Given the description of an element on the screen output the (x, y) to click on. 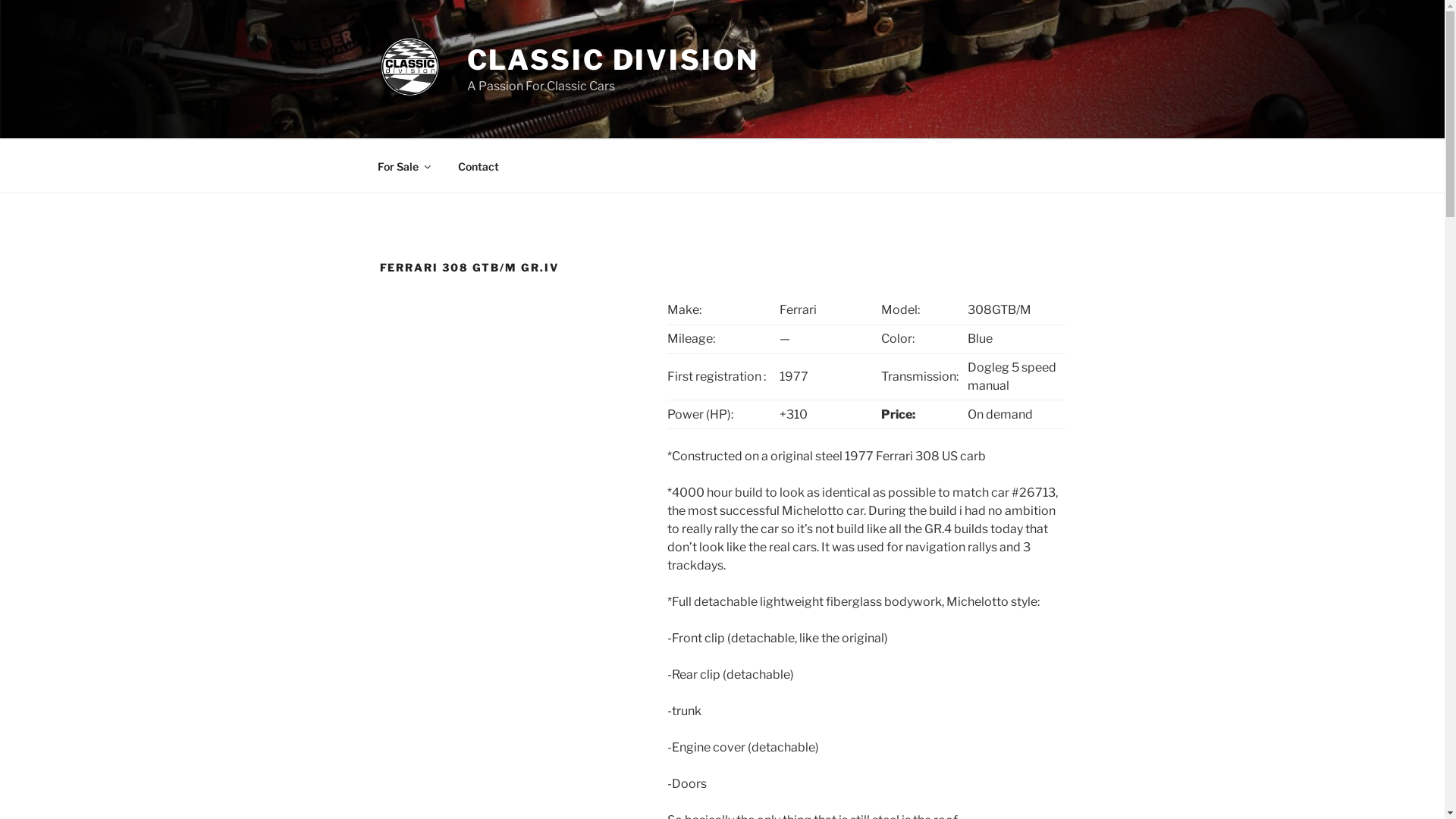
Contact Element type: text (477, 165)
For Sale Element type: text (403, 165)
Skip to content Element type: text (0, 0)
CLASSIC DIVISION Element type: text (613, 59)
